Given the description of an element on the screen output the (x, y) to click on. 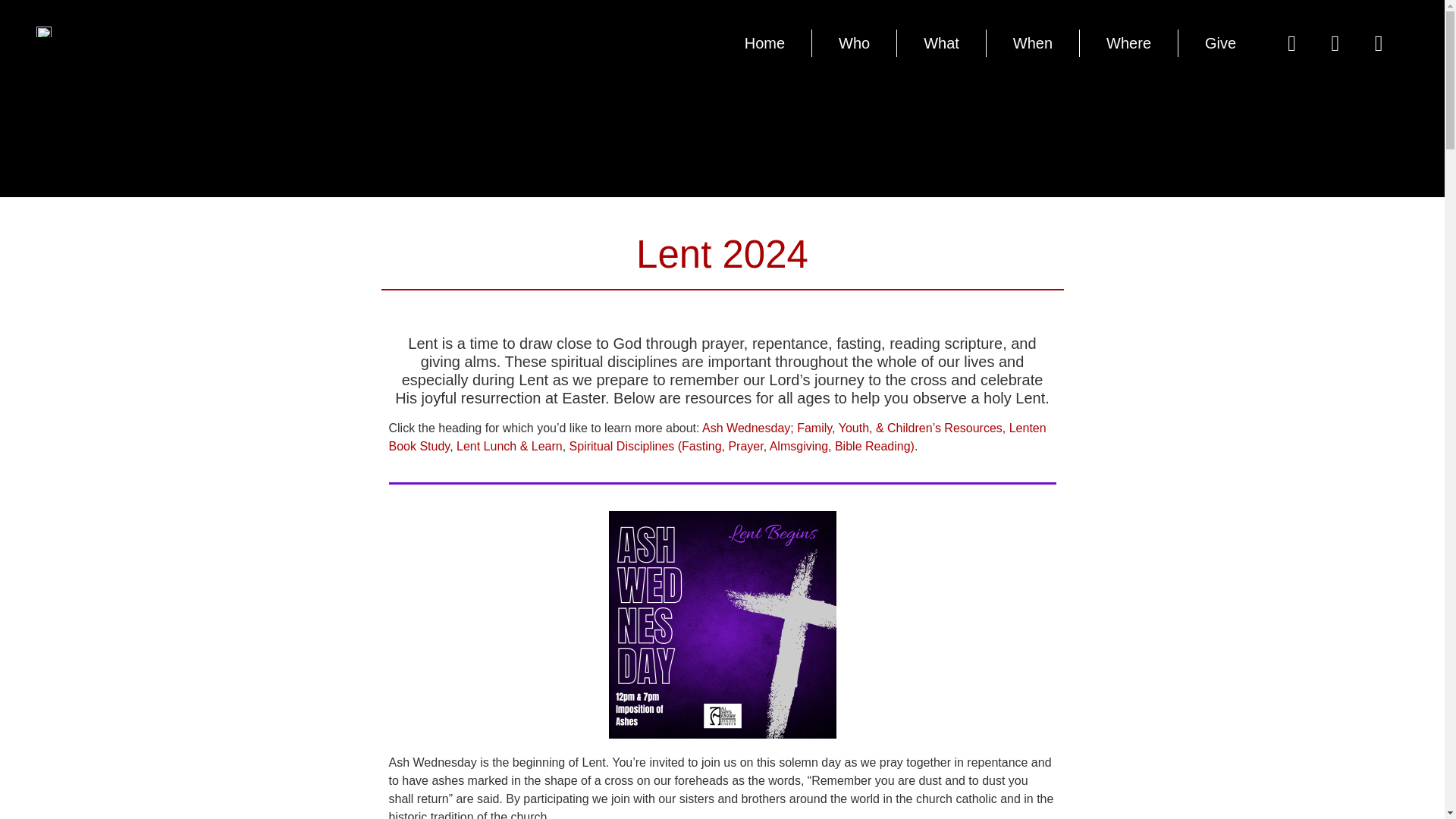
What (940, 42)
Home (763, 42)
Where (1128, 42)
Give (1219, 42)
When (1032, 42)
Who (854, 42)
